Given the description of an element on the screen output the (x, y) to click on. 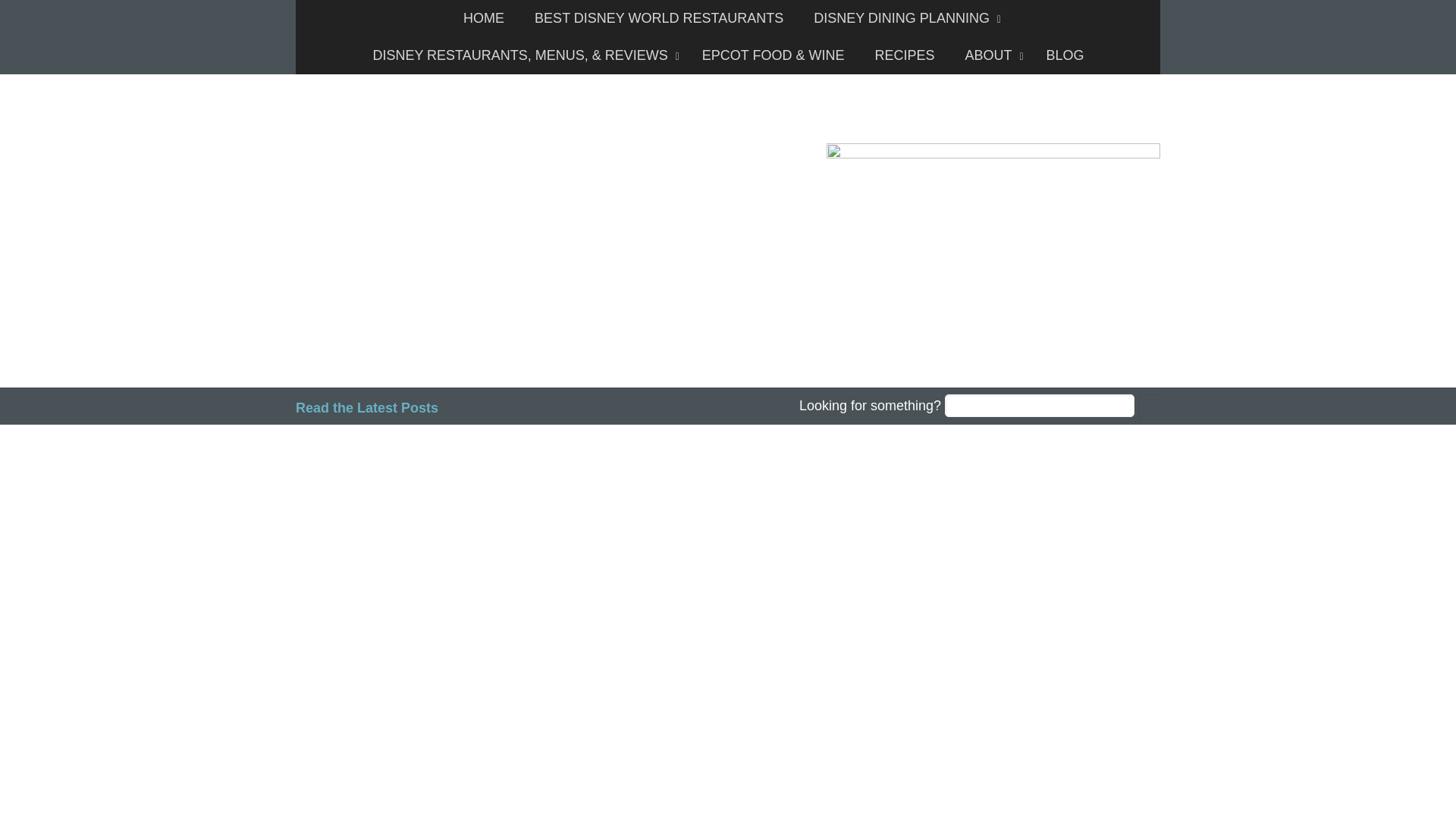
DISNEY DINING PLANNING (903, 18)
HOME (483, 18)
BEST DISNEY WORLD RESTAURANTS (658, 18)
